Given the description of an element on the screen output the (x, y) to click on. 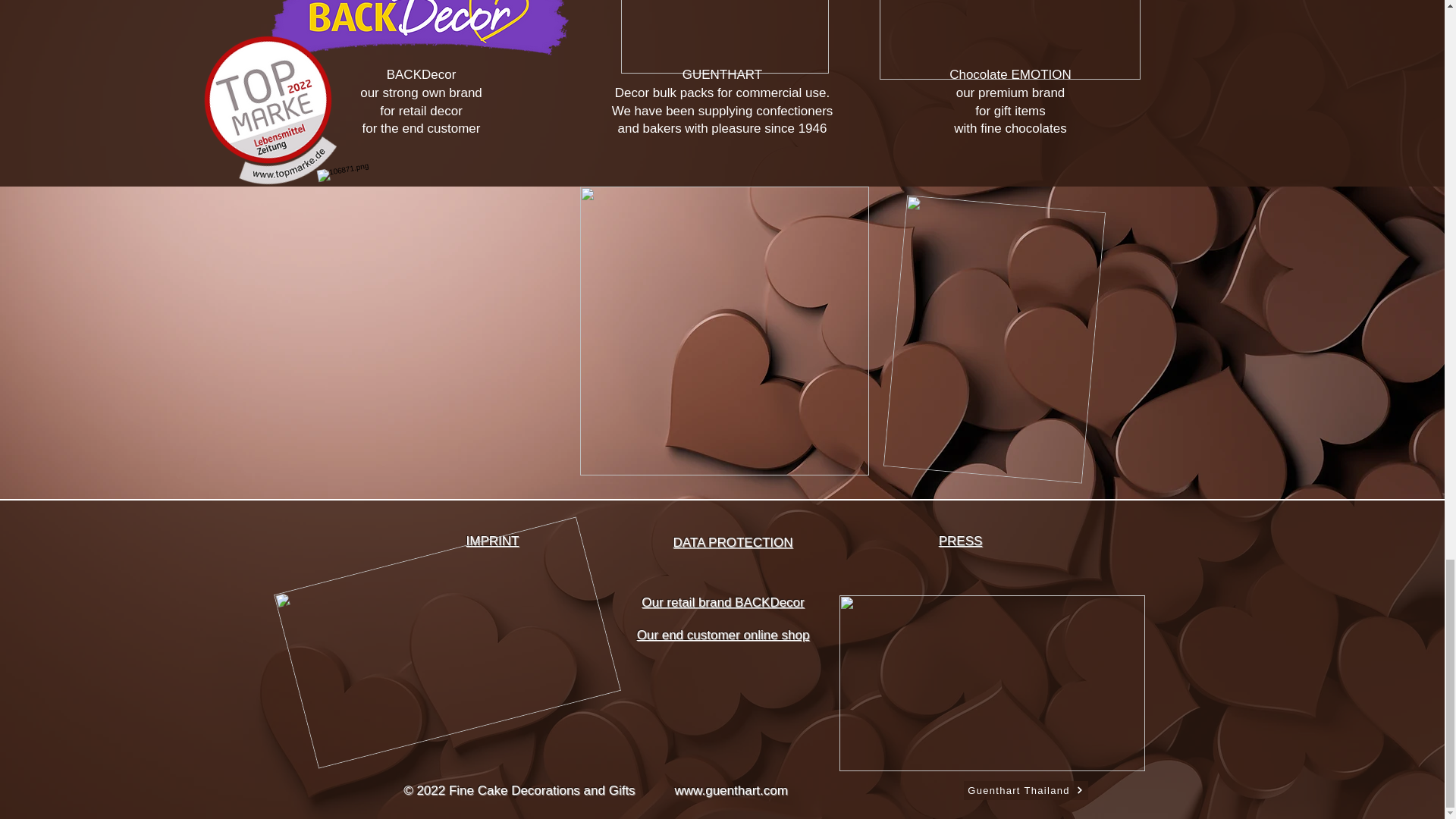
www.guenthart.com (731, 789)
yellowcake.png (723, 330)
DATA PROTECTION (732, 542)
Our end customer online shop (723, 635)
Guenthart Thailand (1024, 790)
IMPRINT (492, 540)
Our retail brand BACKDecor (722, 602)
